Given the description of an element on the screen output the (x, y) to click on. 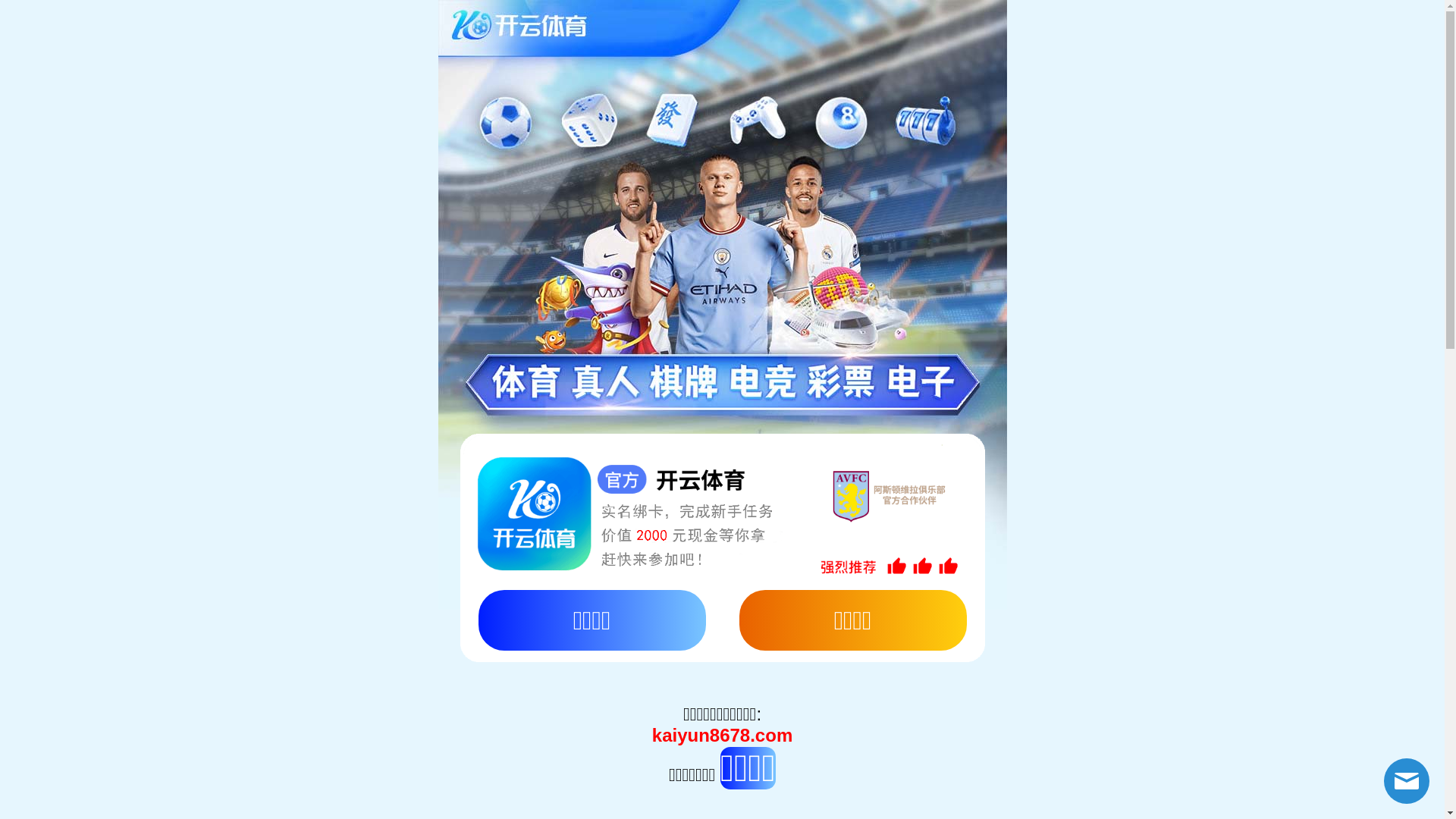
MORE+ Element type: text (1161, 190)
